Given the description of an element on the screen output the (x, y) to click on. 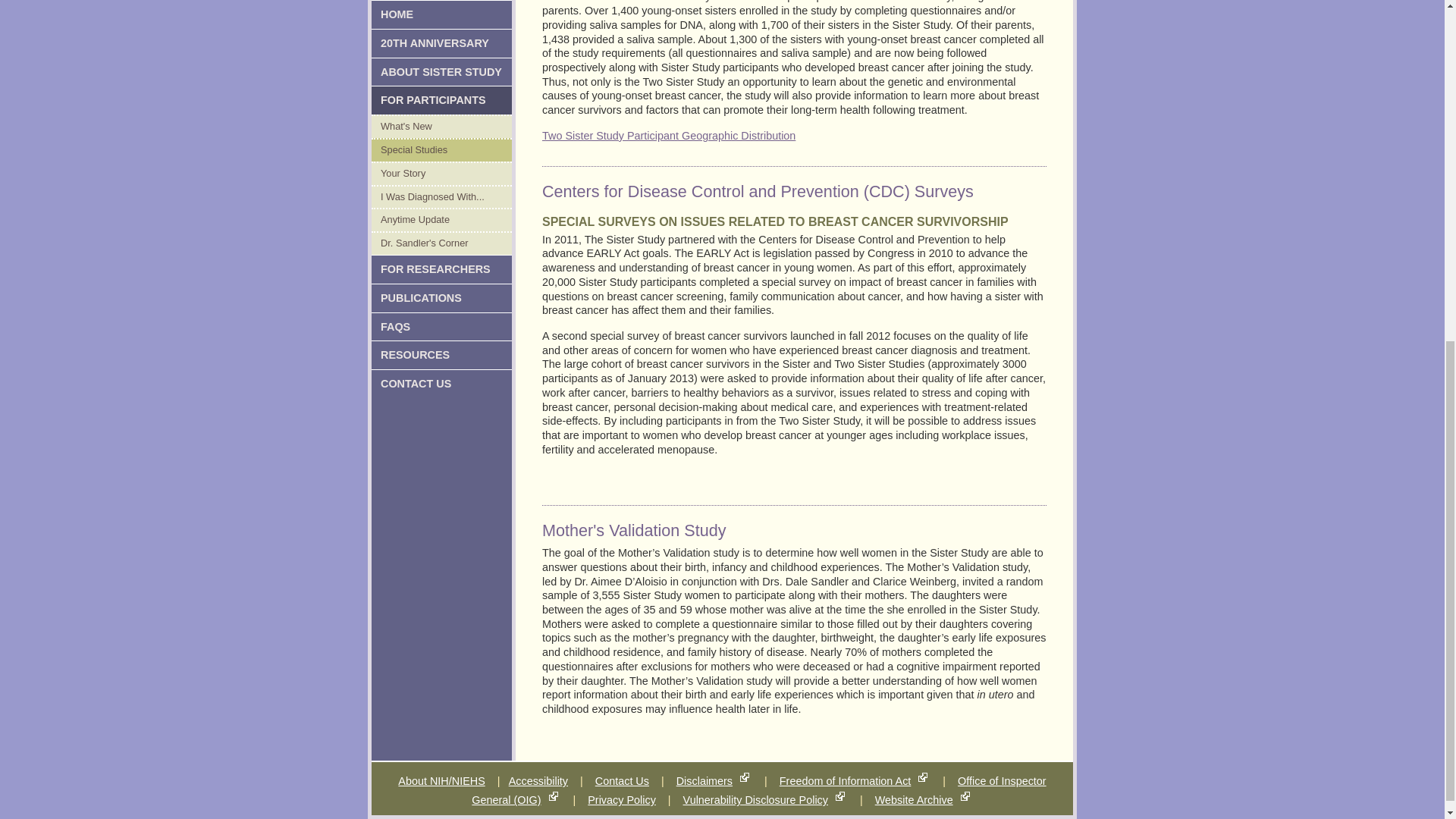
Privacy Policy (622, 799)
Vulnerability Disclosure Policy (755, 799)
Freedom of Information Act (844, 780)
Contact Us (622, 780)
Disclaimers (704, 780)
Website Archive (914, 799)
Accessibility (537, 780)
Two Sister Study Participant Geographic Distribution (667, 135)
